Given the description of an element on the screen output the (x, y) to click on. 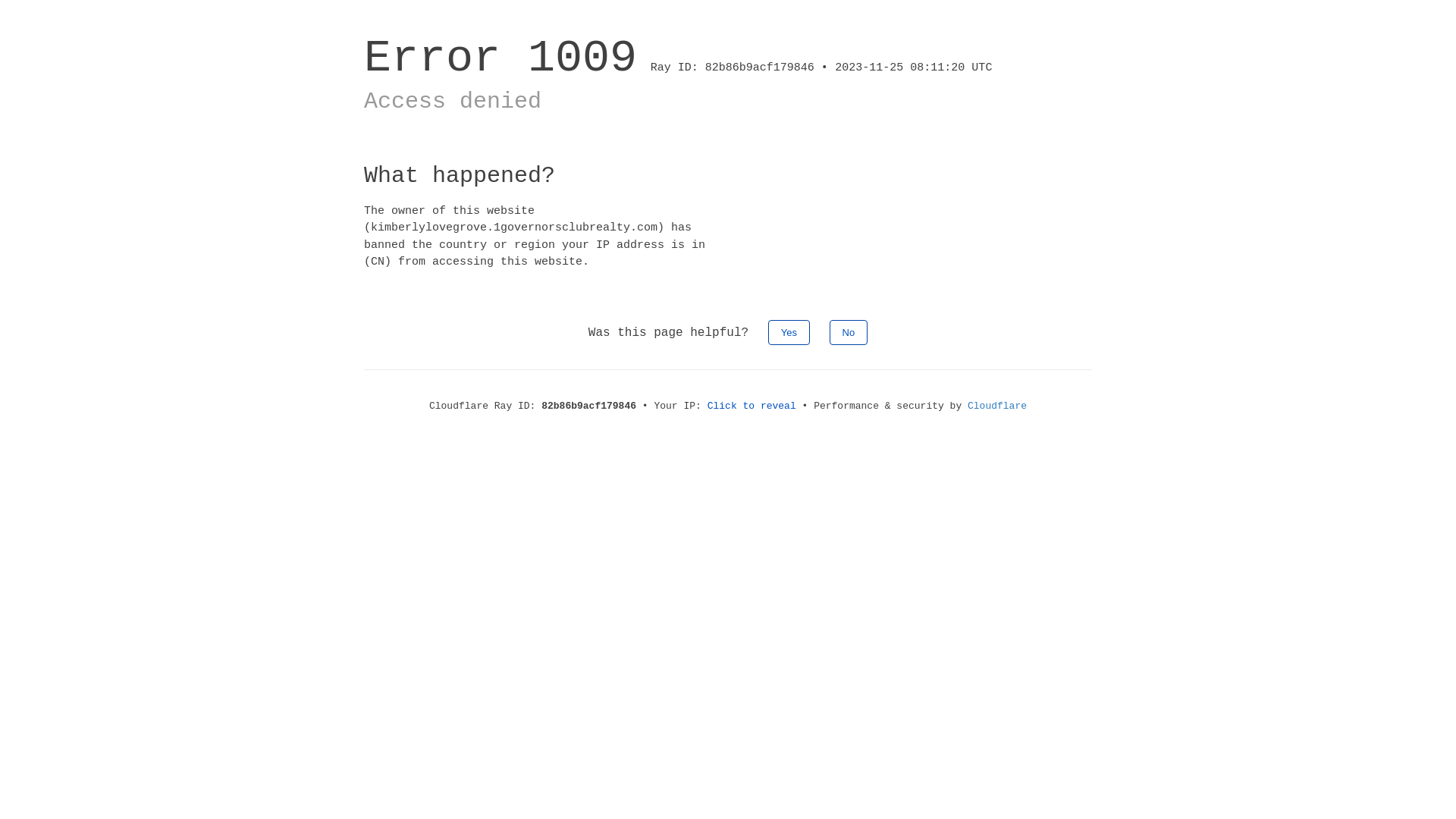
Click to reveal Element type: text (751, 405)
Cloudflare Element type: text (996, 405)
Yes Element type: text (788, 332)
No Element type: text (848, 332)
